Given the description of an element on the screen output the (x, y) to click on. 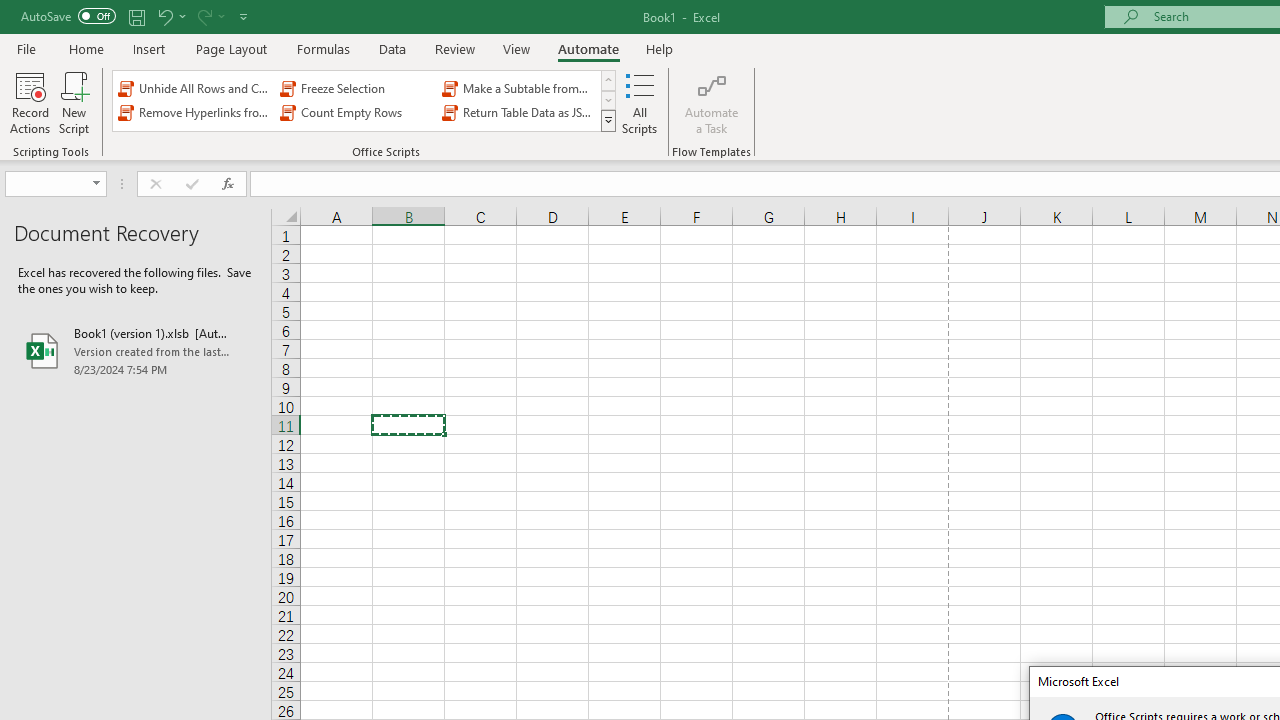
Make a Subtable from a Selection (518, 88)
AutomationID: OfficeScriptsGallery (365, 100)
Return Table Data as JSON (518, 112)
Automate a Task (712, 102)
Remove Hyperlinks from Sheet (194, 112)
